Given the description of an element on the screen output the (x, y) to click on. 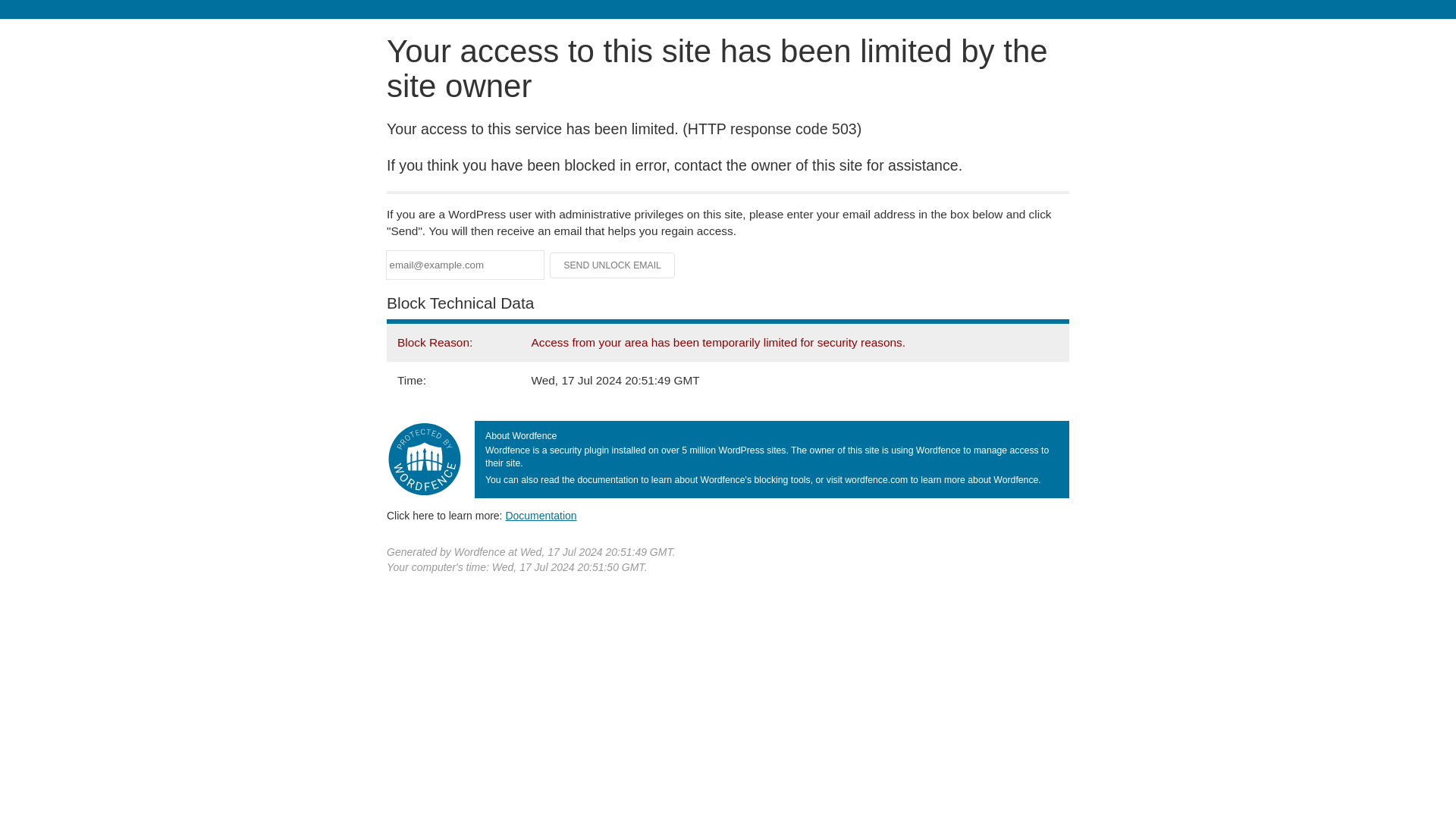
Send Unlock Email (612, 265)
Documentation (540, 515)
Send Unlock Email (612, 265)
